Given the description of an element on the screen output the (x, y) to click on. 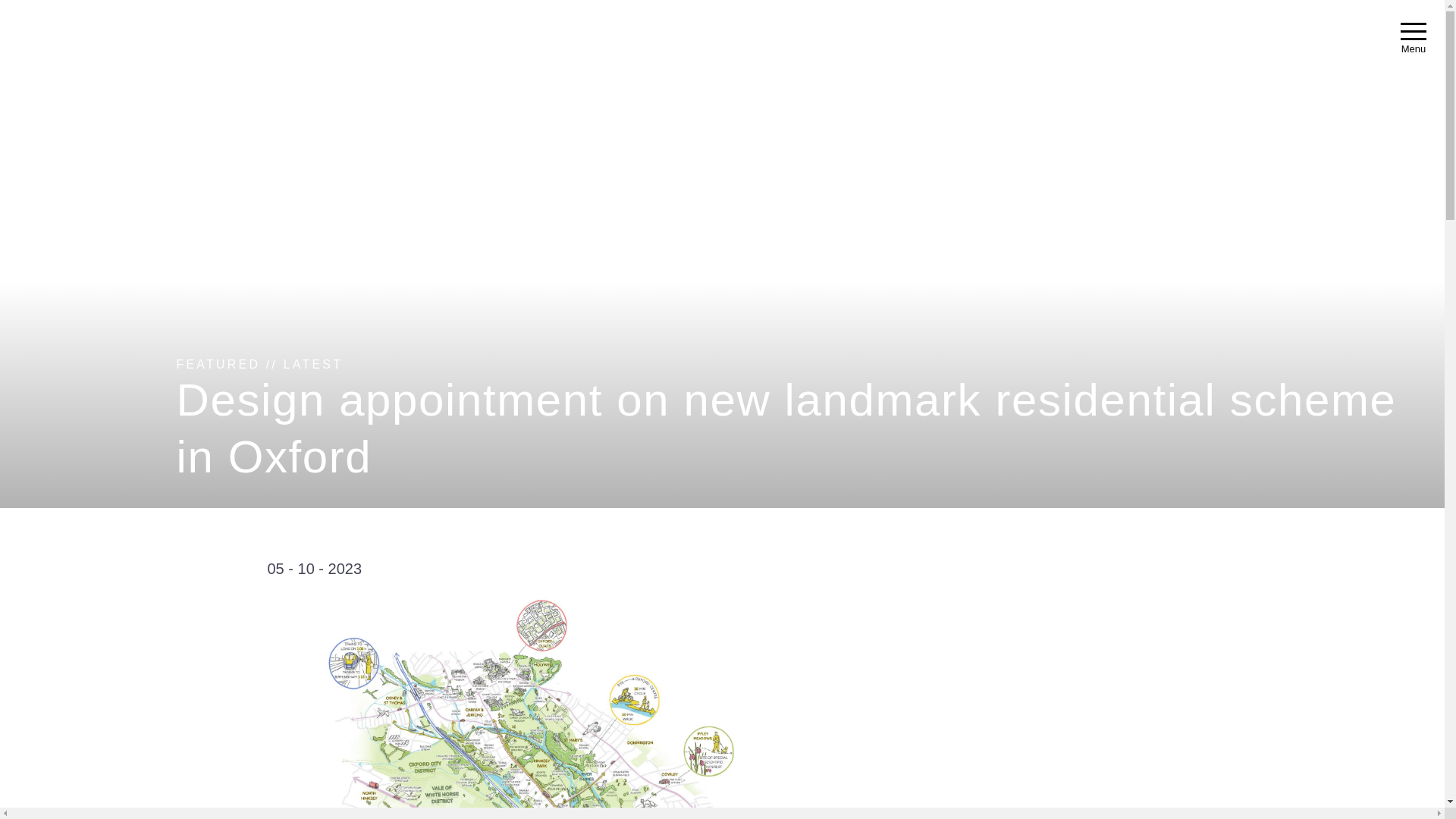
twitter sharing button (221, 637)
linkedin sharing button (189, 569)
facebook sharing button (189, 603)
